Given the description of an element on the screen output the (x, y) to click on. 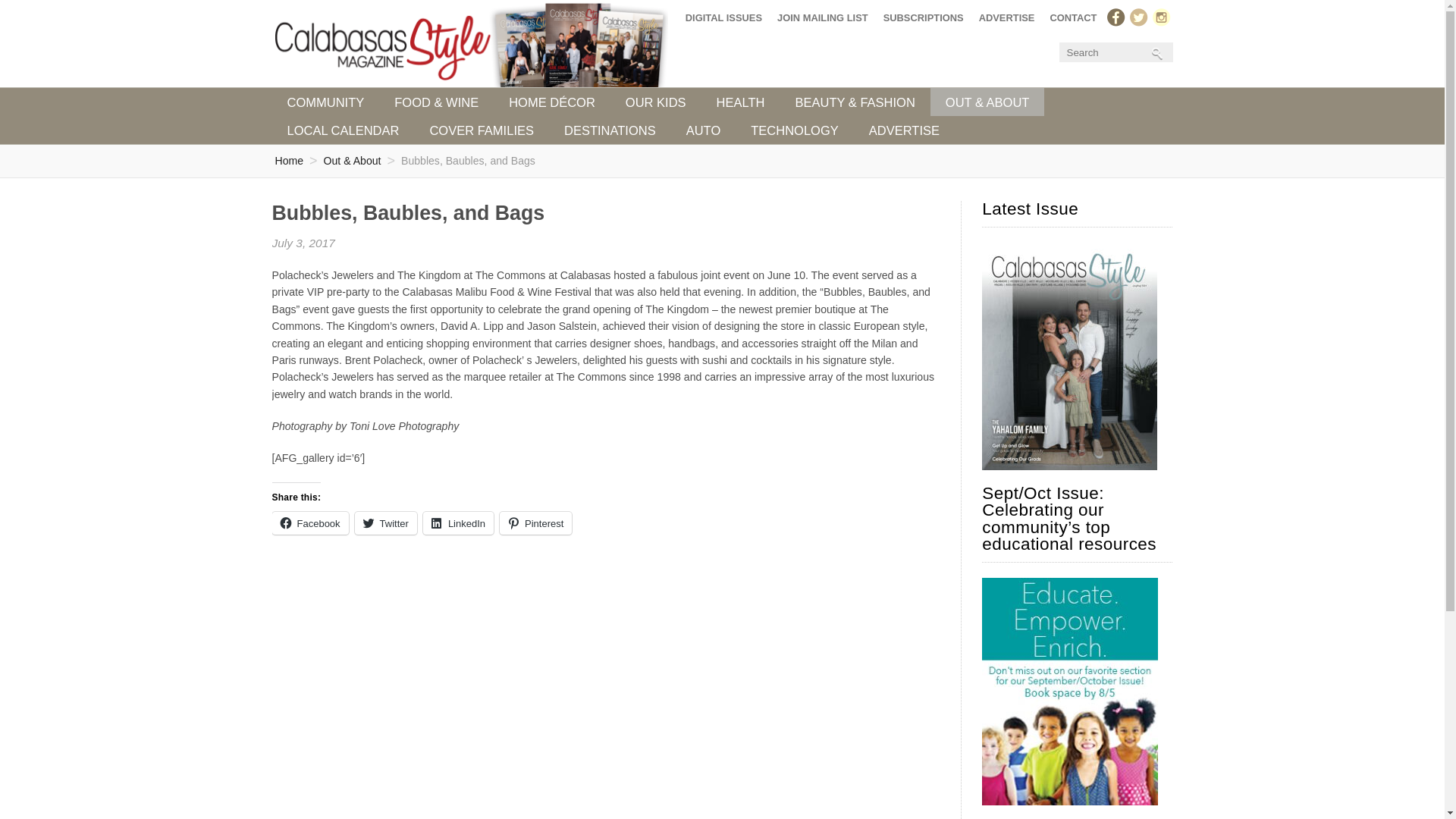
JOIN MAILING LIST (823, 17)
Click to share on Twitter (385, 522)
LinkedIn (458, 522)
HEALTH (740, 101)
Facebook (308, 522)
Search (1113, 51)
LOCAL CALENDAR (341, 130)
SUBSCRIPTIONS (923, 17)
ADVERTISE (1006, 17)
DIGITAL ISSUES (724, 17)
Click to share on Pinterest (535, 522)
ADVERTISE (904, 130)
Home (288, 160)
Twitter (385, 522)
Pinterest (535, 522)
